Given the description of an element on the screen output the (x, y) to click on. 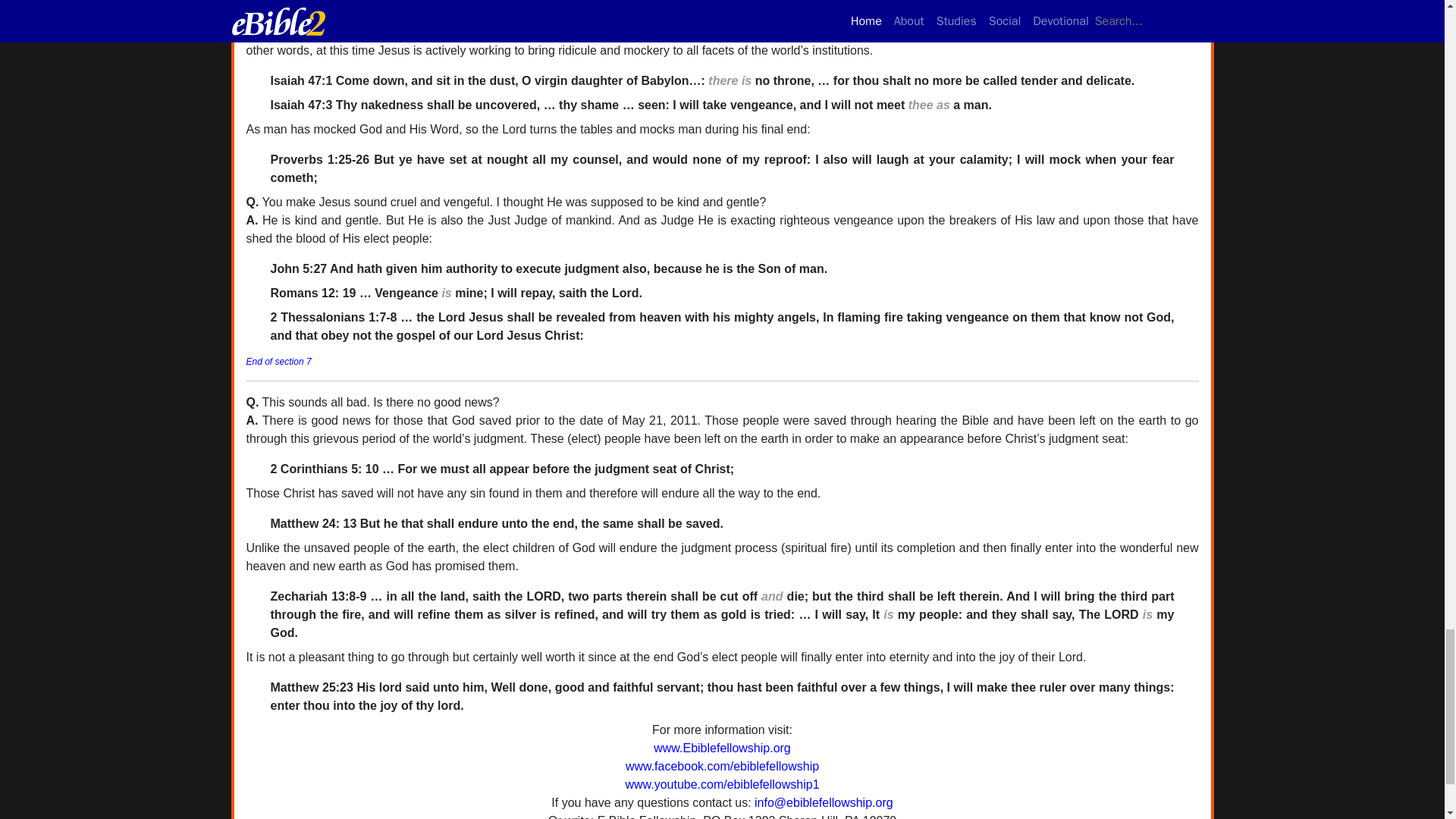
www.Ebiblefellowship.org (721, 748)
